Given the description of an element on the screen output the (x, y) to click on. 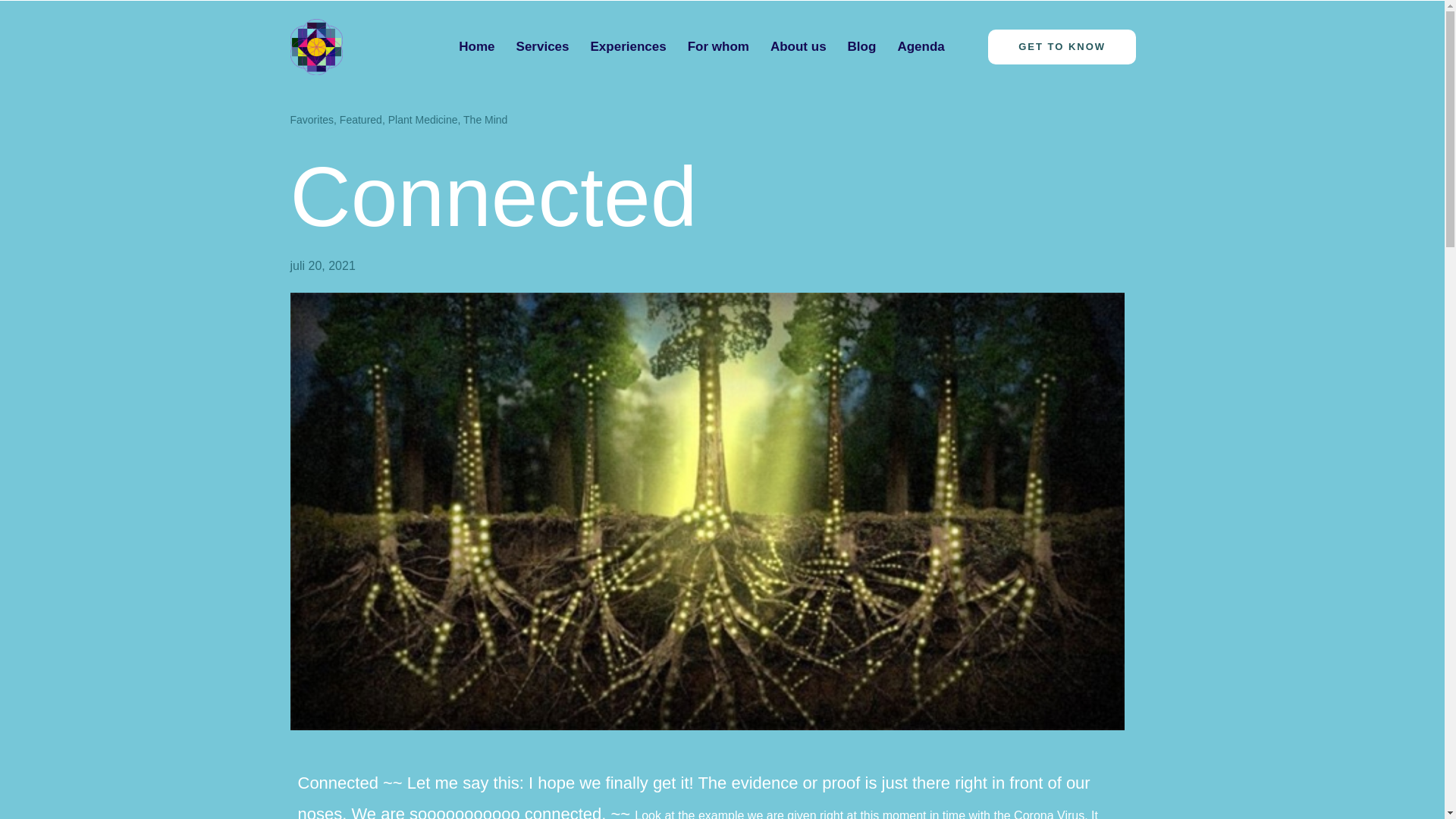
Experiences (628, 46)
Favorites (311, 119)
About us (798, 46)
Services (542, 46)
Featured (360, 119)
For whom (718, 46)
GET TO KNOW (1061, 46)
Plant Medicine (423, 119)
juli 20, 2021 (322, 265)
The Mind (484, 119)
